Given the description of an element on the screen output the (x, y) to click on. 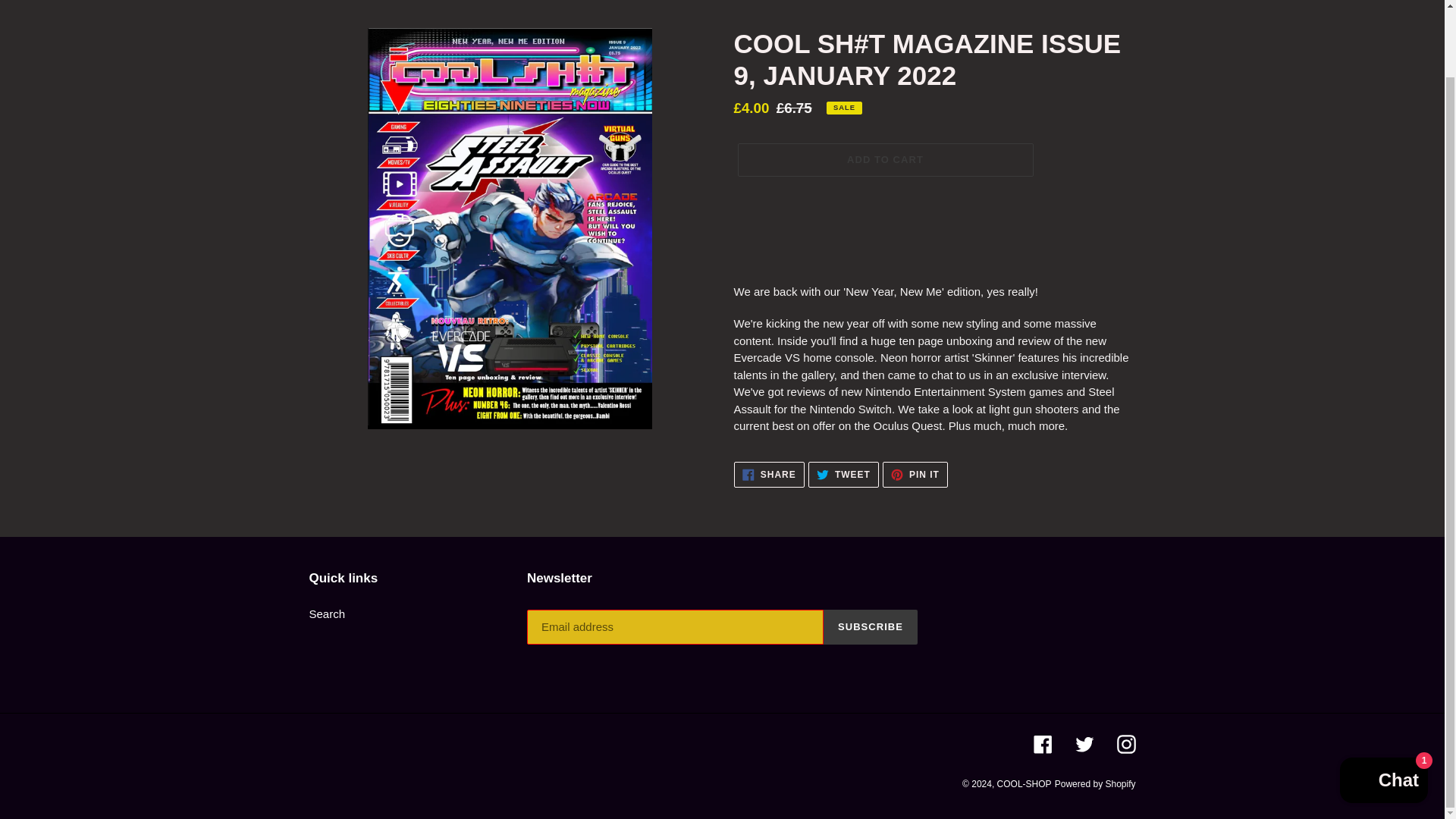
Shopify online store chat (1383, 707)
Facebook (1041, 743)
Twitter (1084, 743)
Search (327, 613)
Powered by Shopify (769, 474)
ADD TO CART (1094, 783)
SUBSCRIBE (884, 159)
Instagram (870, 626)
COOL-SHOP (843, 474)
